Given the description of an element on the screen output the (x, y) to click on. 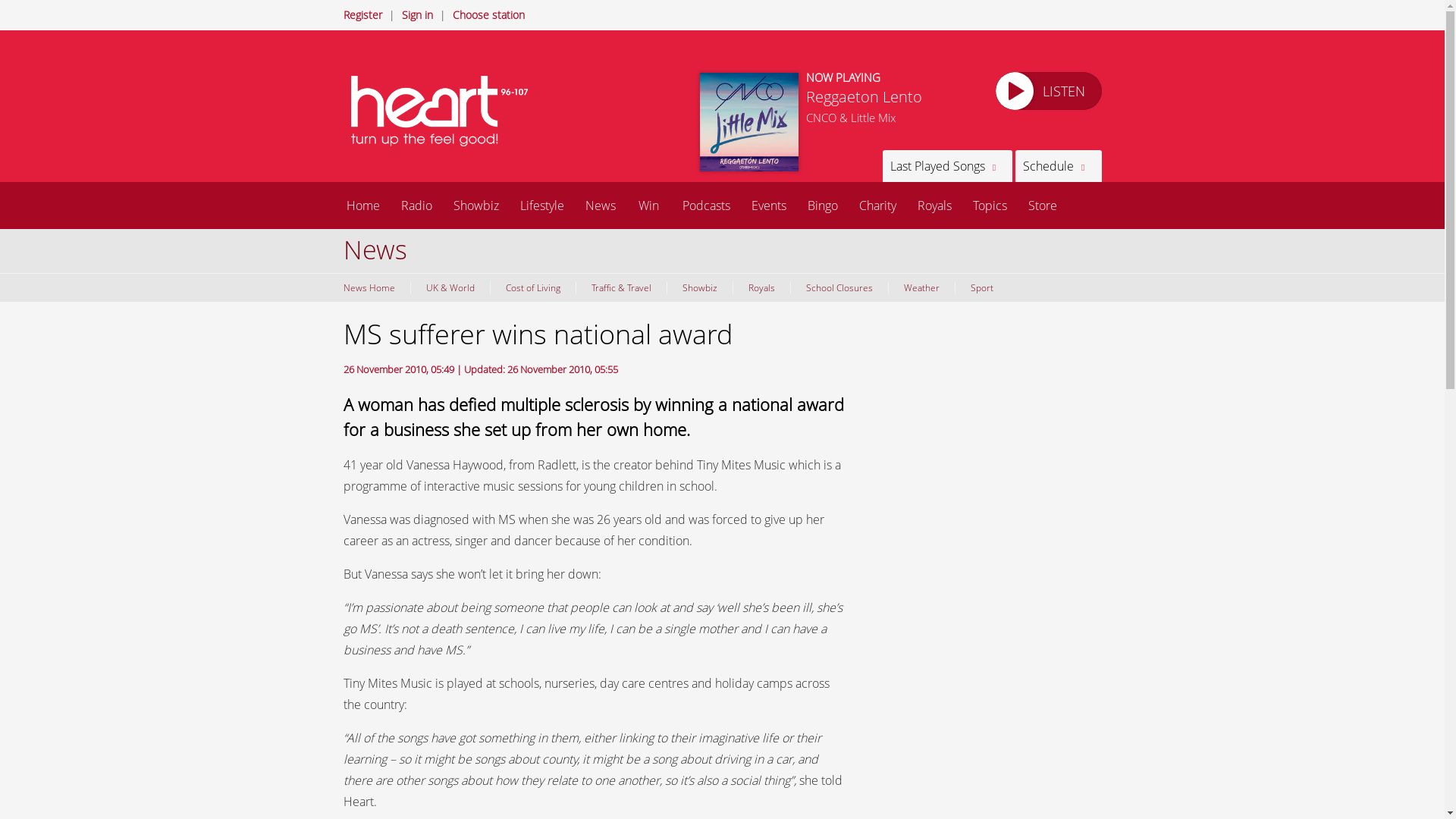
School Closures (839, 287)
Choose station (487, 14)
Events (767, 205)
Store (1042, 205)
News (600, 205)
LISTEN (1047, 90)
Win (648, 205)
Showbiz (698, 287)
News Home (371, 287)
Heart Hertfordshire South (441, 111)
Bingo (821, 205)
Schedule (1057, 165)
Home (362, 205)
Sign in (416, 14)
